Given the description of an element on the screen output the (x, y) to click on. 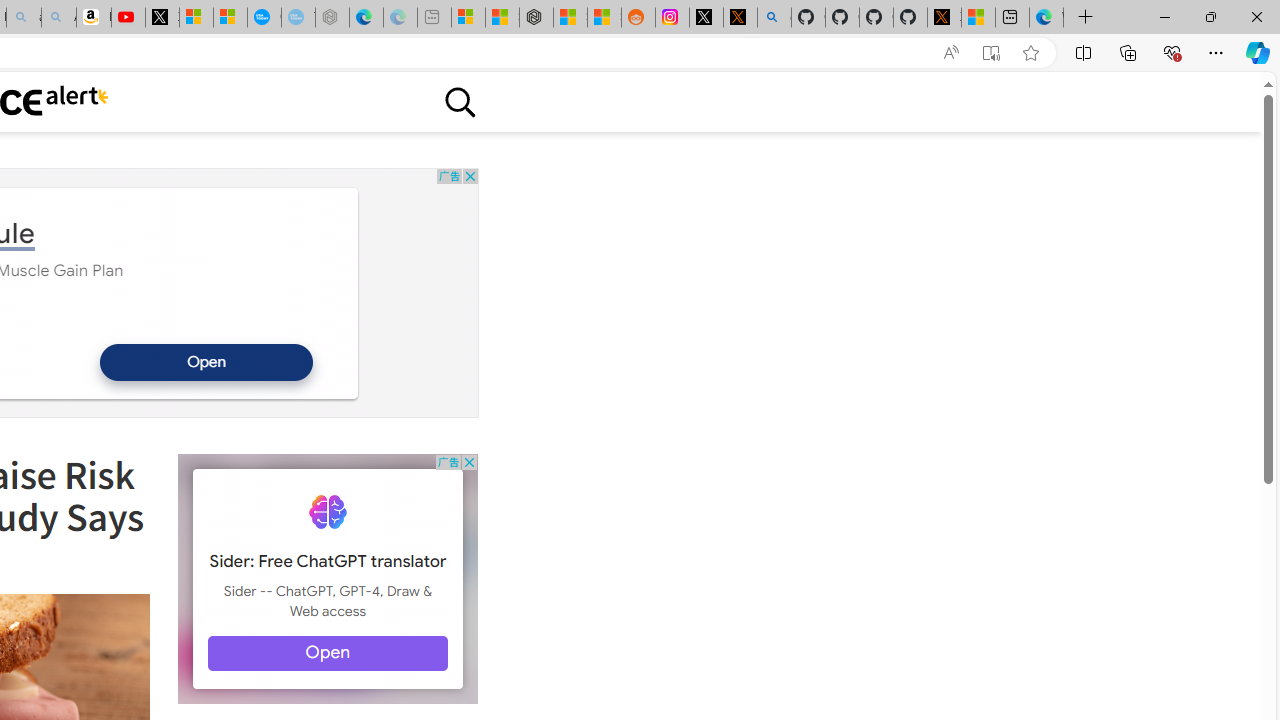
Shanghai, China Weather trends | Microsoft Weather (603, 17)
New tab - Sleeping (434, 17)
Nordace - Nordace has arrived Hong Kong - Sleeping (332, 17)
X Privacy Policy (944, 17)
Welcome to Microsoft Edge (1046, 17)
Log in to X / X (706, 17)
Search (459, 102)
help.x.com | 524: A timeout occurred (740, 17)
